Given the description of an element on the screen output the (x, y) to click on. 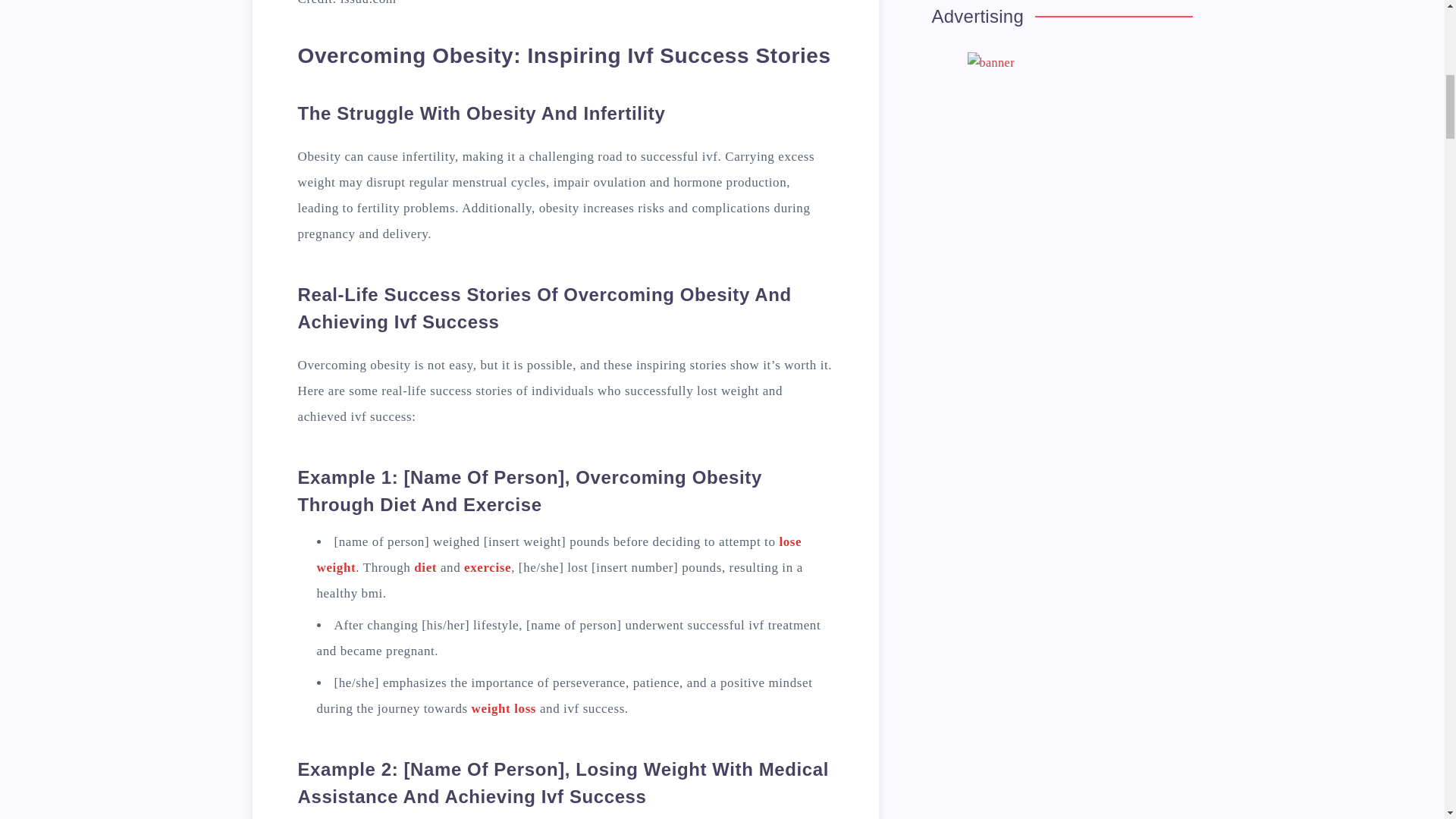
weight loss (503, 708)
lose weight (559, 554)
exercise (487, 567)
diet (424, 567)
